Given the description of an element on the screen output the (x, y) to click on. 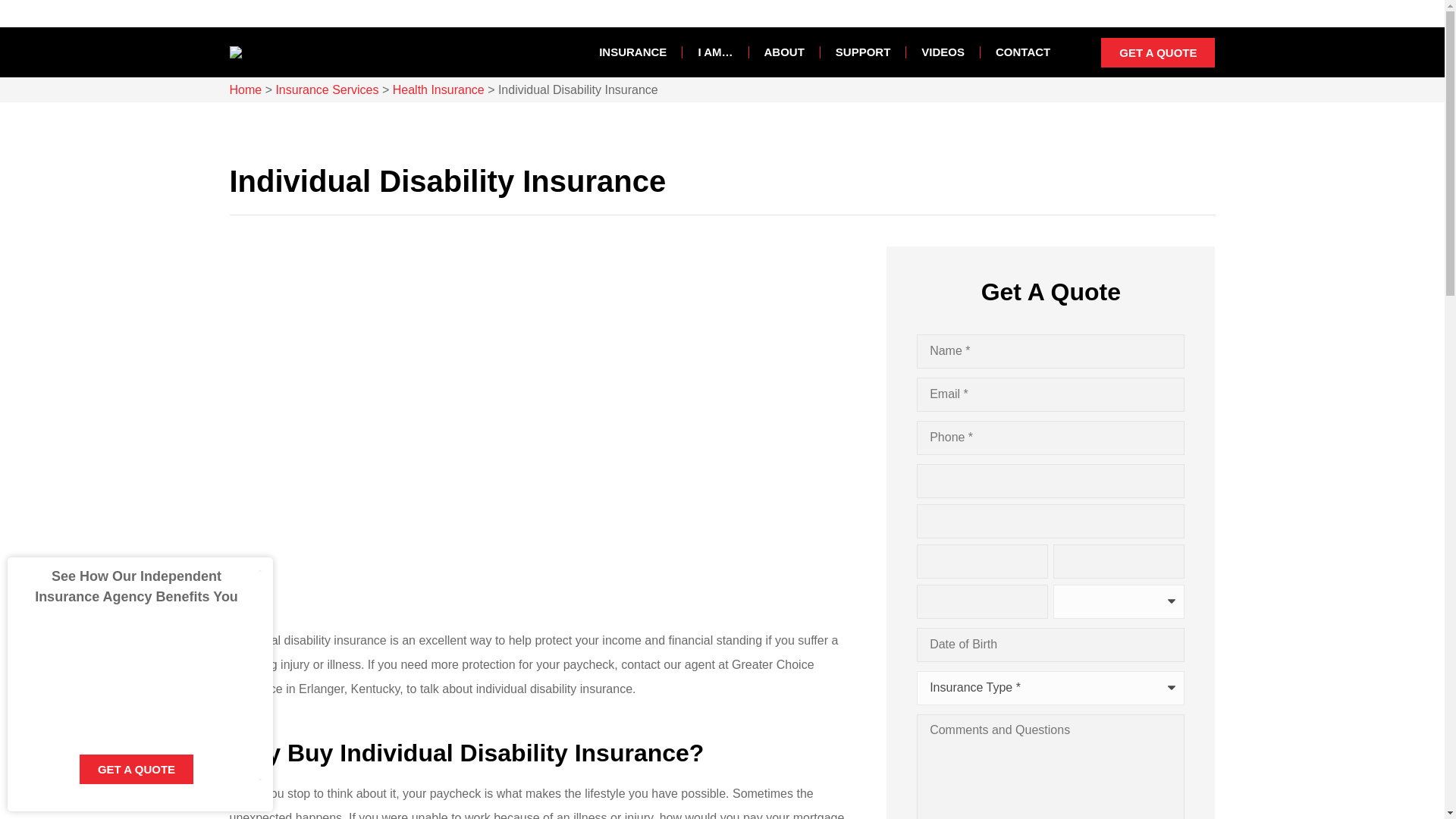
logo (234, 51)
ABOUT (784, 52)
INSURANCE (632, 52)
